Given the description of an element on the screen output the (x, y) to click on. 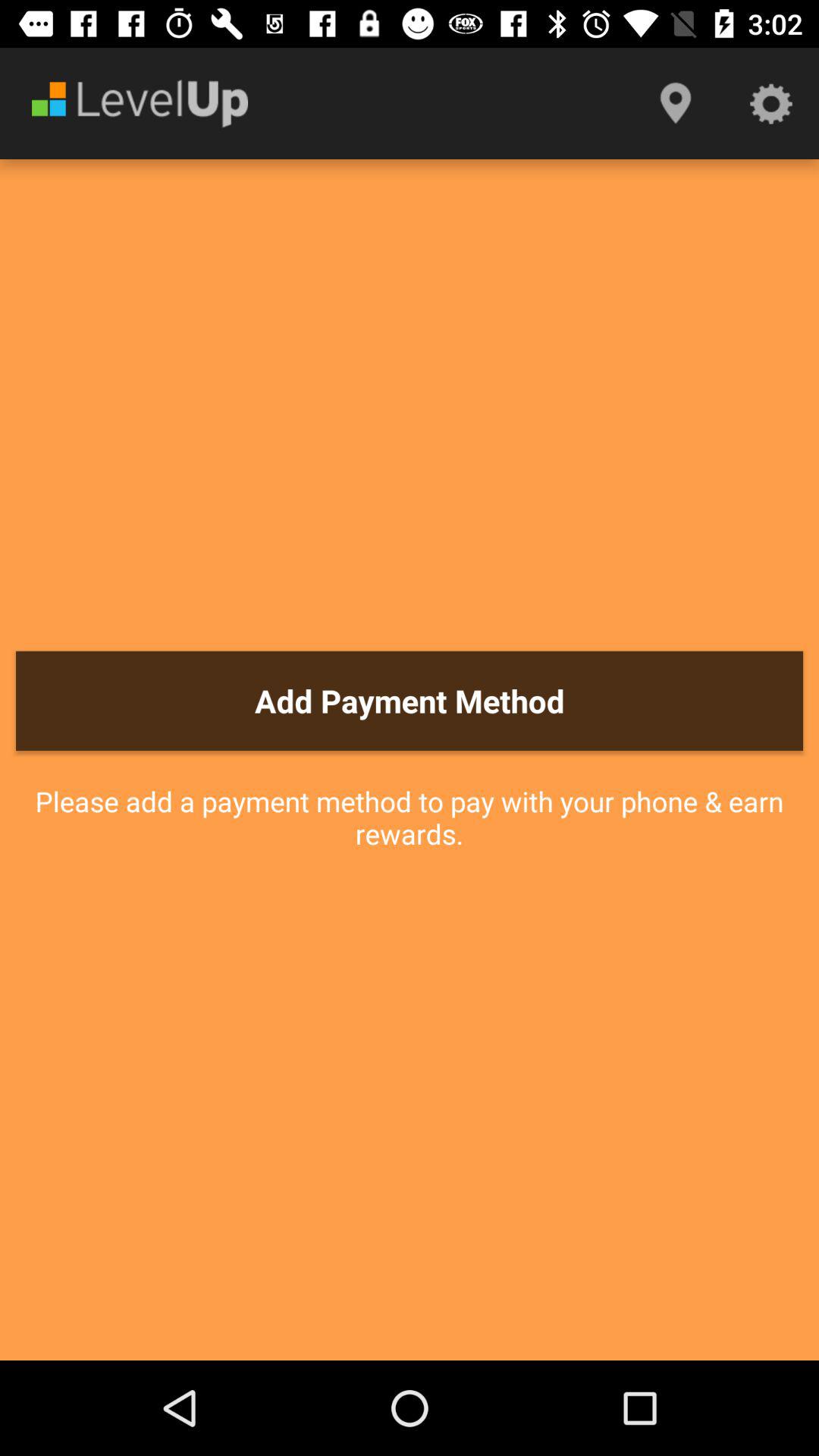
turn off icon above the add payment method icon (675, 103)
